Given the description of an element on the screen output the (x, y) to click on. 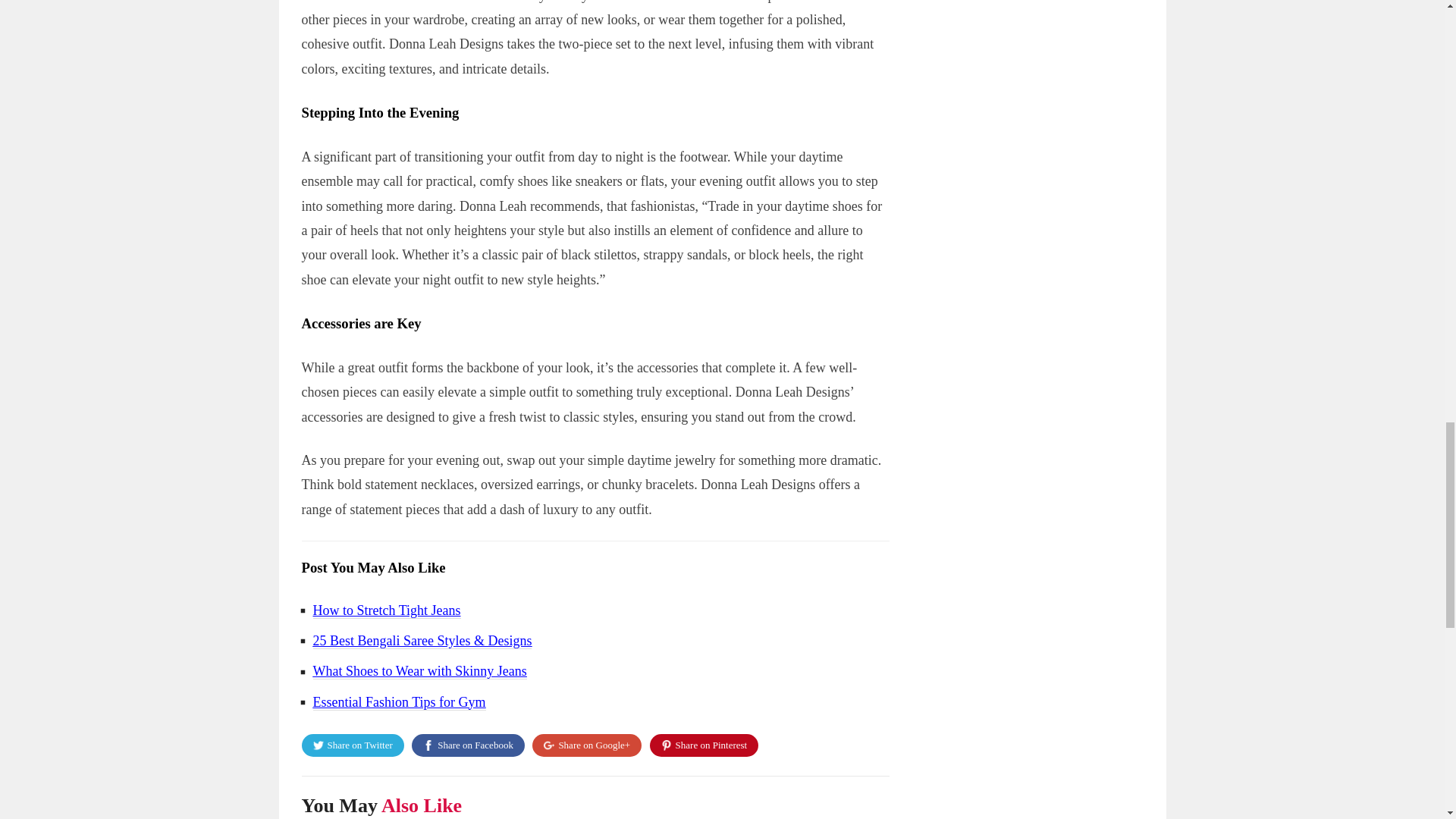
How to Stretch Tight Jeans (386, 610)
Share on Facebook (468, 744)
Essential Fashion Tips for Gym (398, 702)
Share on Twitter (352, 744)
What Shoes to Wear with Skinny Jeans (419, 671)
Share on Pinterest (703, 744)
